Given the description of an element on the screen output the (x, y) to click on. 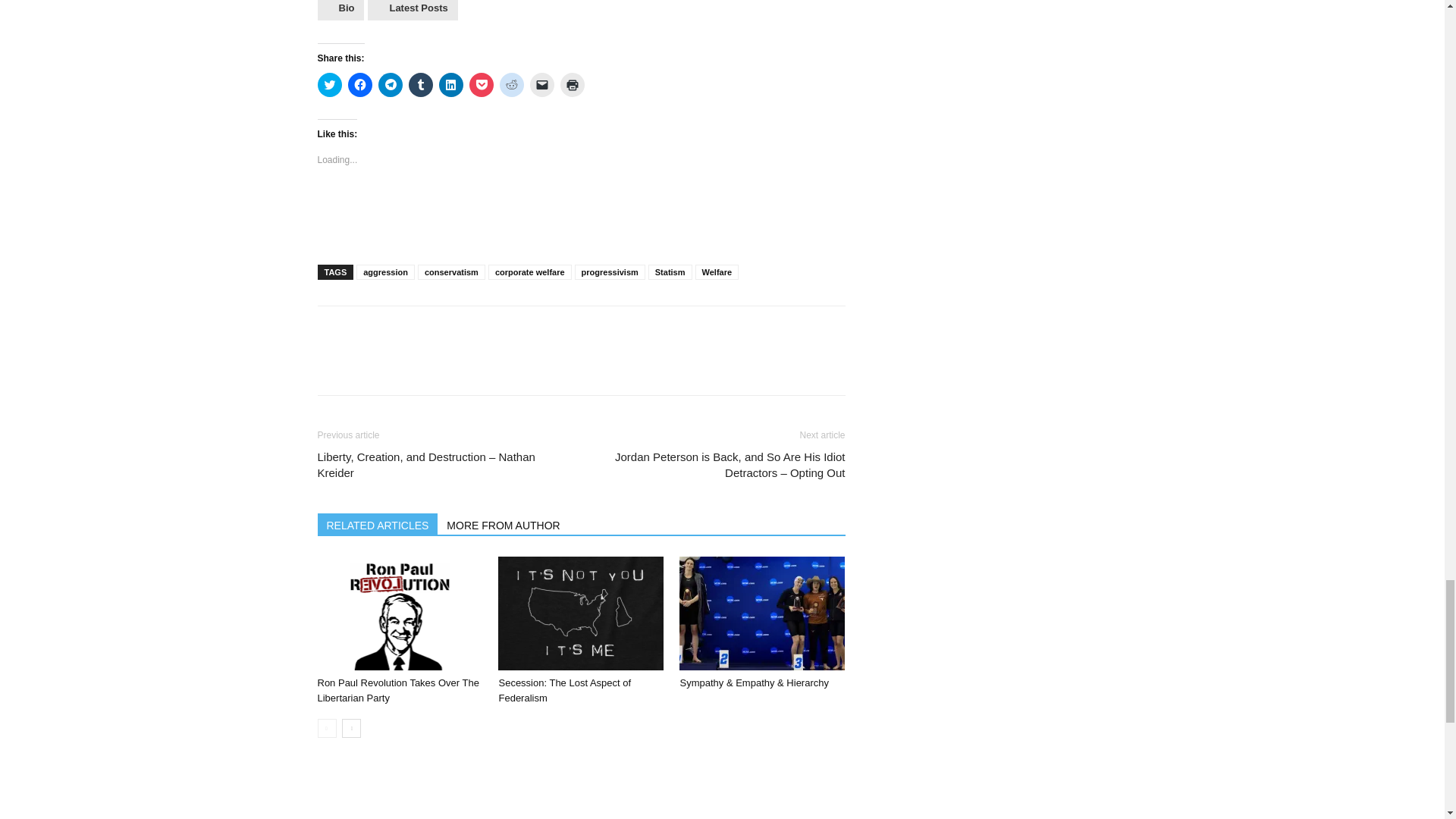
Click to share on Reddit (510, 84)
Click to email a link to a friend (541, 84)
Click to share on Pocket (480, 84)
Click to share on Facebook (359, 84)
Click to share on Twitter (328, 84)
Click to share on Tumblr (419, 84)
Click to print (571, 84)
Click to share on Telegram (389, 84)
Click to share on LinkedIn (450, 84)
